Given the description of an element on the screen output the (x, y) to click on. 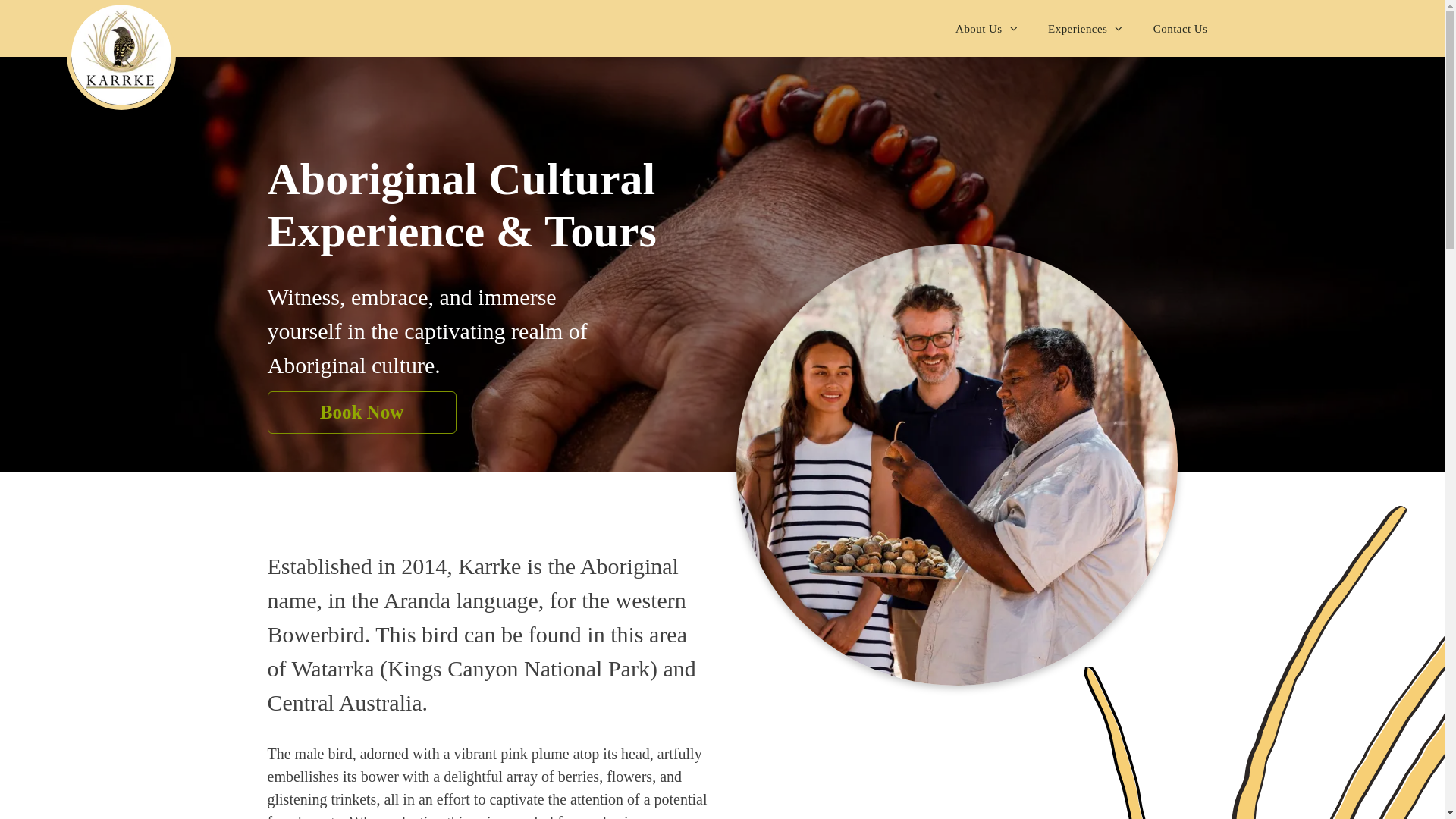
About Us Element type: text (986, 28)
Contact Us Element type: text (1180, 28)
Experiences Element type: text (1085, 28)
Book Now Element type: text (360, 412)
